Given the description of an element on the screen output the (x, y) to click on. 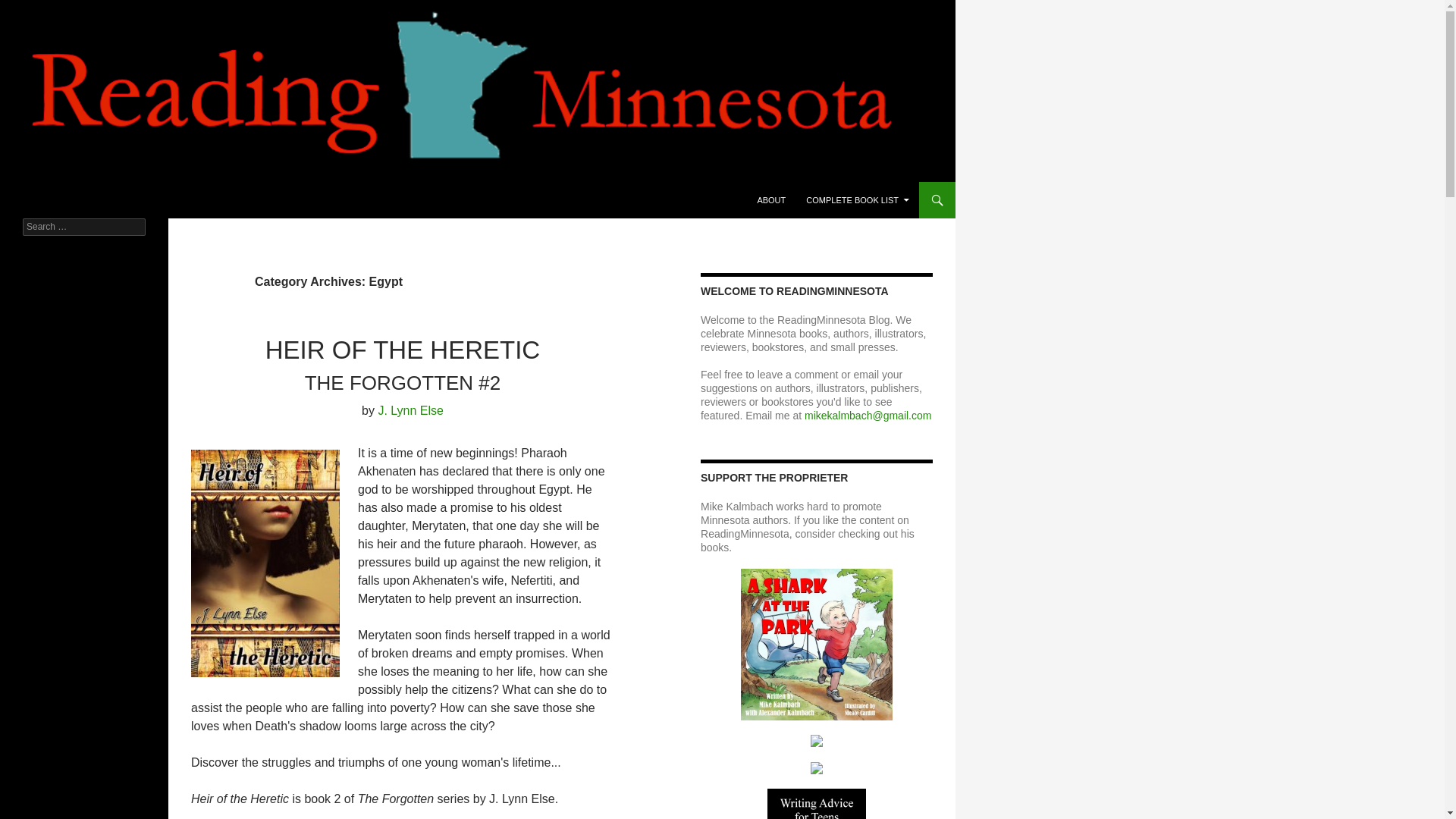
J. Lynn Else (410, 410)
Reading Minnesota (85, 200)
HEIR OF THE HERETIC (402, 349)
ABOUT (771, 199)
COMPLETE BOOK LIST (857, 199)
